Given the description of an element on the screen output the (x, y) to click on. 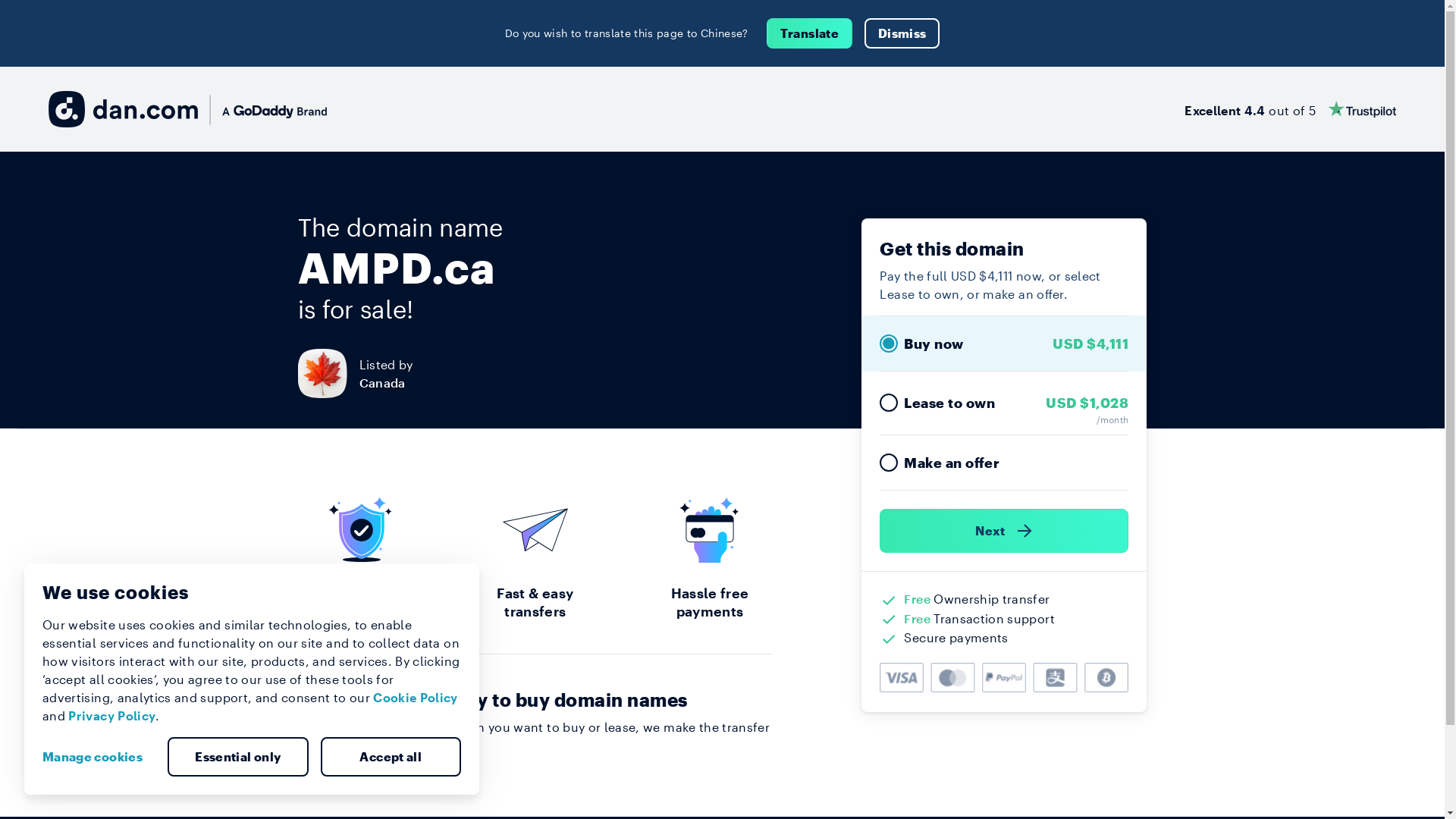
Accept all Element type: text (390, 756)
Translate Element type: text (809, 33)
Cookie Policy Element type: text (415, 697)
Next
) Element type: text (1003, 530)
Excellent 4.4 out of 5 Element type: text (1290, 109)
Privacy Policy Element type: text (111, 715)
Manage cookies Element type: text (98, 756)
Essential only Element type: text (237, 756)
Dismiss Element type: text (901, 33)
